Given the description of an element on the screen output the (x, y) to click on. 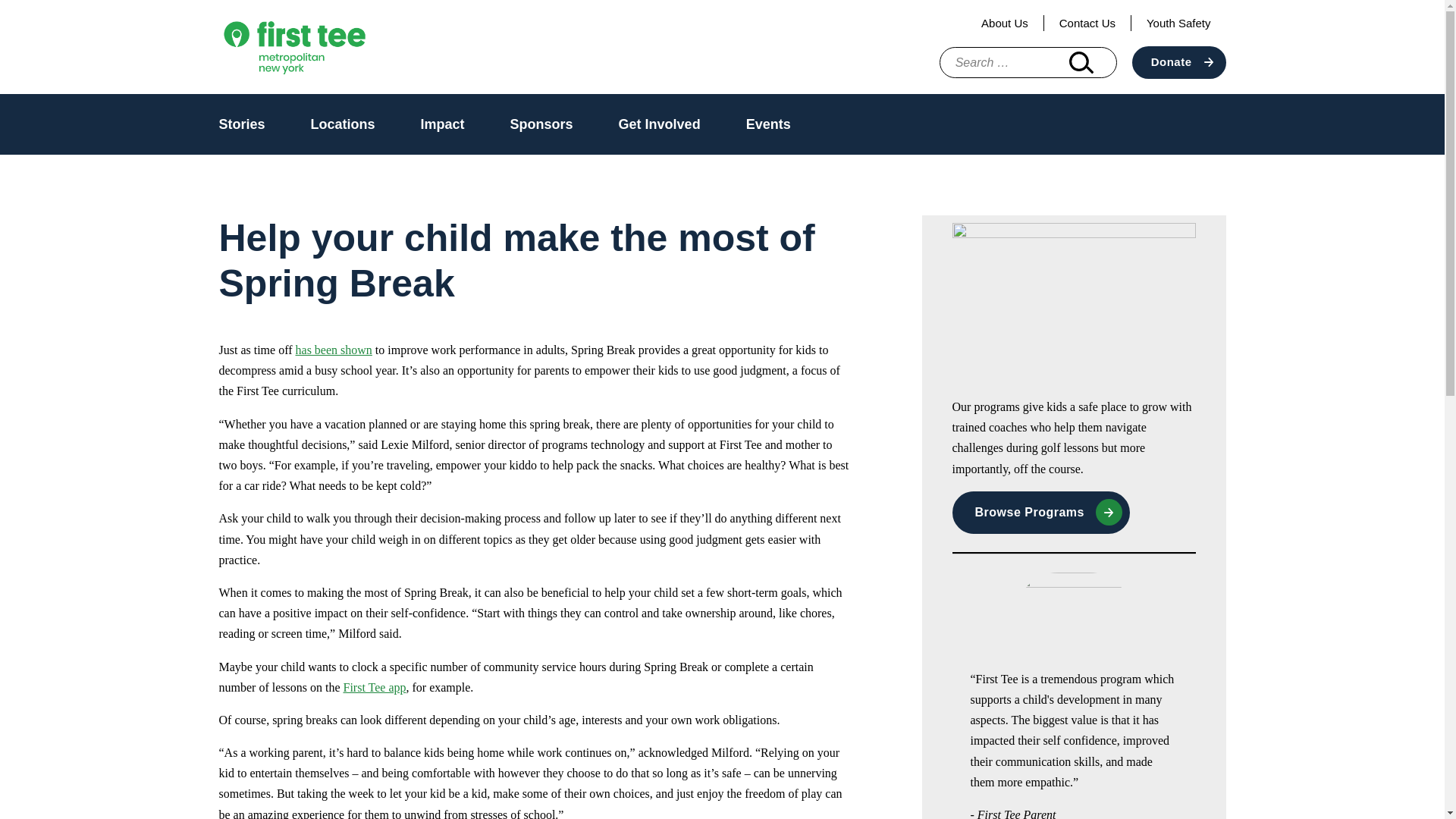
Stories (241, 123)
has been shown (333, 349)
First Tee app (374, 686)
Contact Us (1087, 23)
Search (1080, 61)
About Us (1004, 23)
Donate (1178, 61)
Get Involved (659, 123)
Locations (343, 123)
Sponsors (542, 123)
Events (767, 123)
Youth Safety (1178, 23)
Impact (442, 123)
Search (1080, 61)
Browse Programs (1040, 512)
